Given the description of an element on the screen output the (x, y) to click on. 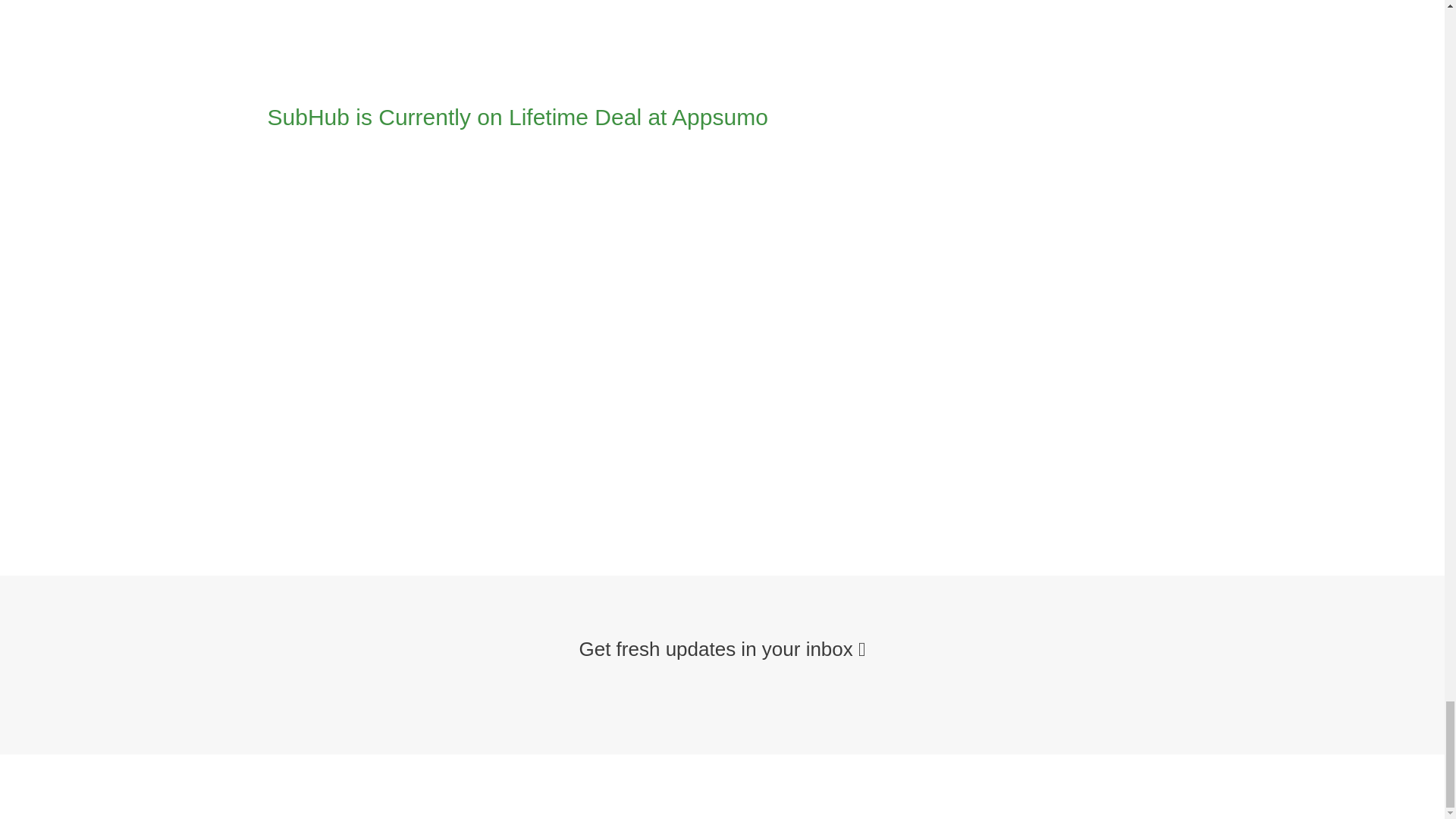
Subhub LinkedIn (531, 38)
